Given the description of an element on the screen output the (x, y) to click on. 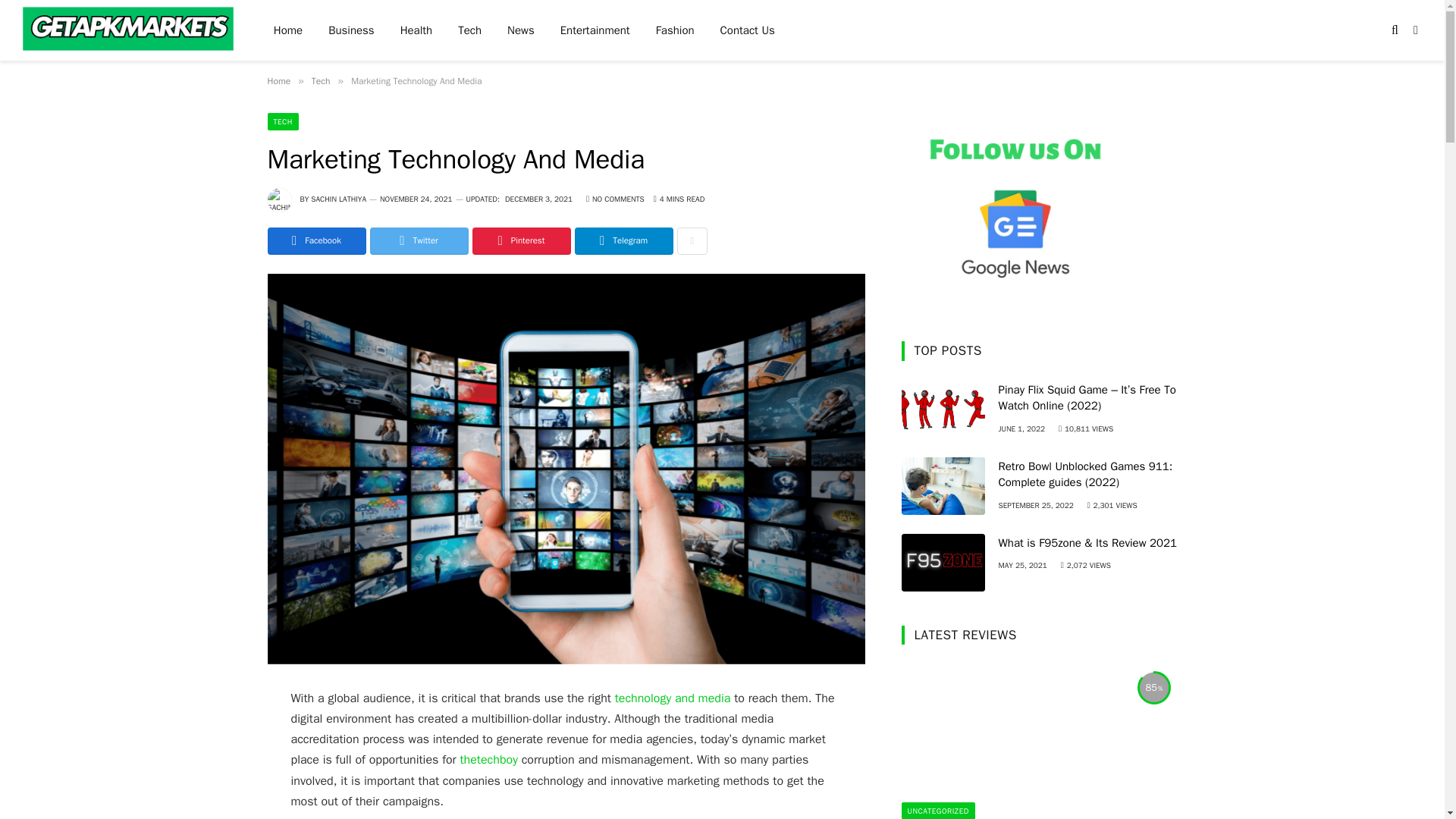
Fashion (675, 30)
TECH (282, 121)
Home (277, 80)
Contact Us (747, 30)
Share on Facebook (315, 240)
Posts by sachin lathiya (338, 198)
Health (416, 30)
Switch to Dark Design - easier on eyes. (1414, 30)
Home (287, 30)
Getapkmarkets (128, 31)
